Given the description of an element on the screen output the (x, y) to click on. 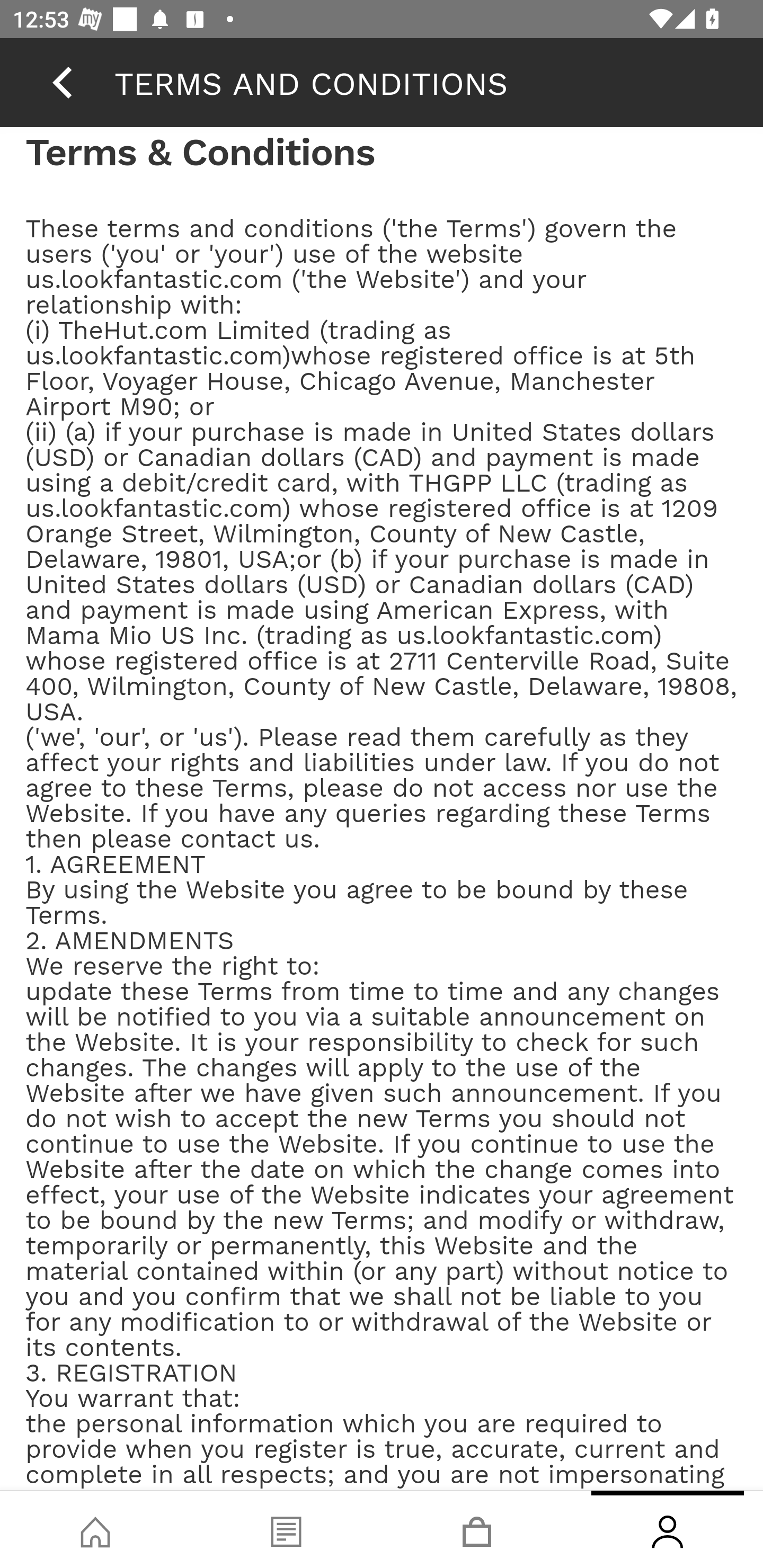
back (61, 82)
Shop, tab, 1 of 4 (95, 1529)
Blog, tab, 2 of 4 (285, 1529)
Basket, tab, 3 of 4 (476, 1529)
Account, tab, 4 of 4 (667, 1529)
